Given the description of an element on the screen output the (x, y) to click on. 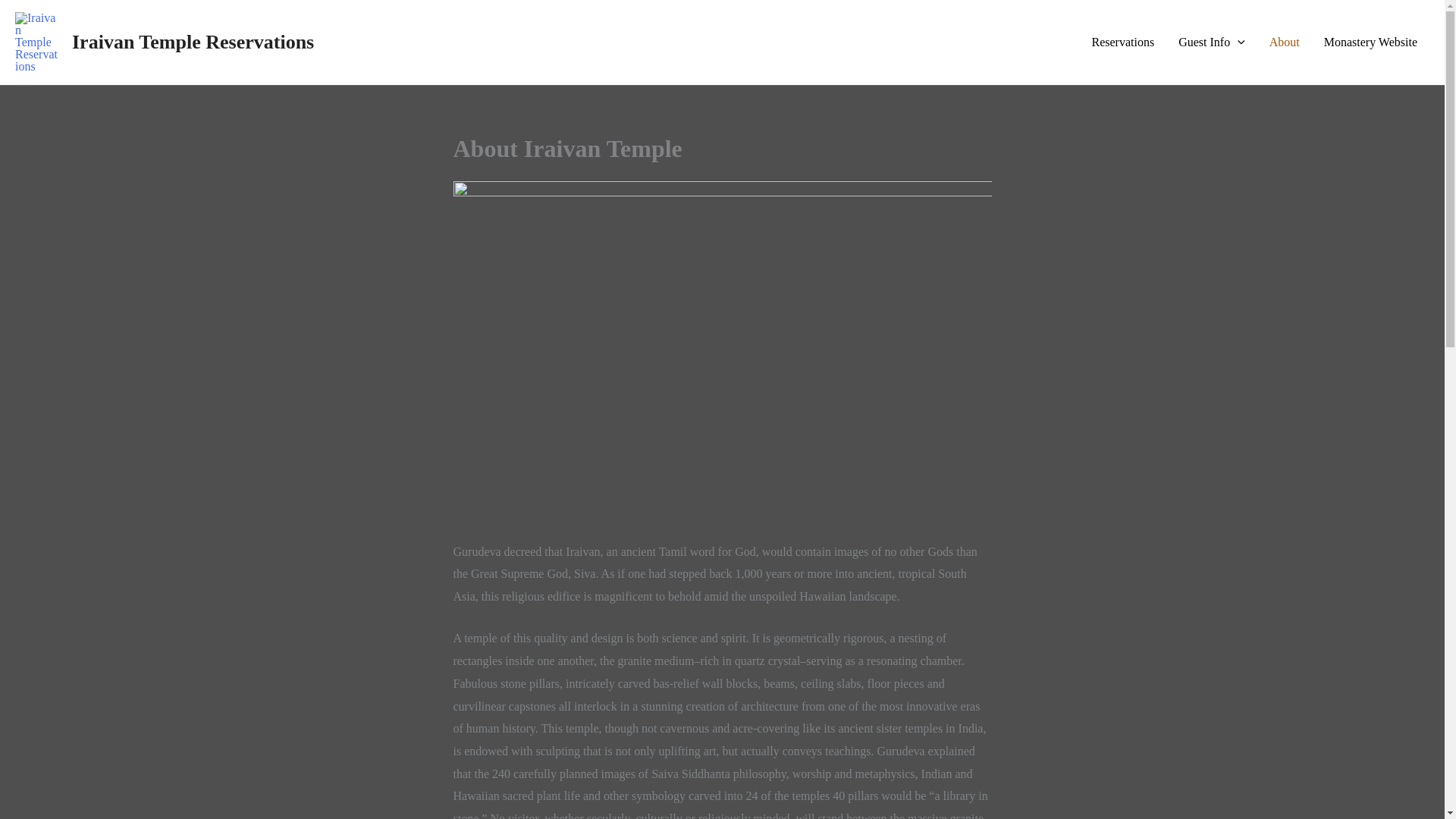
Guest Info (1211, 42)
Reservations (1122, 42)
About (1284, 42)
Iraivan Temple Reservations (192, 42)
Monastery Website (1370, 42)
